Given the description of an element on the screen output the (x, y) to click on. 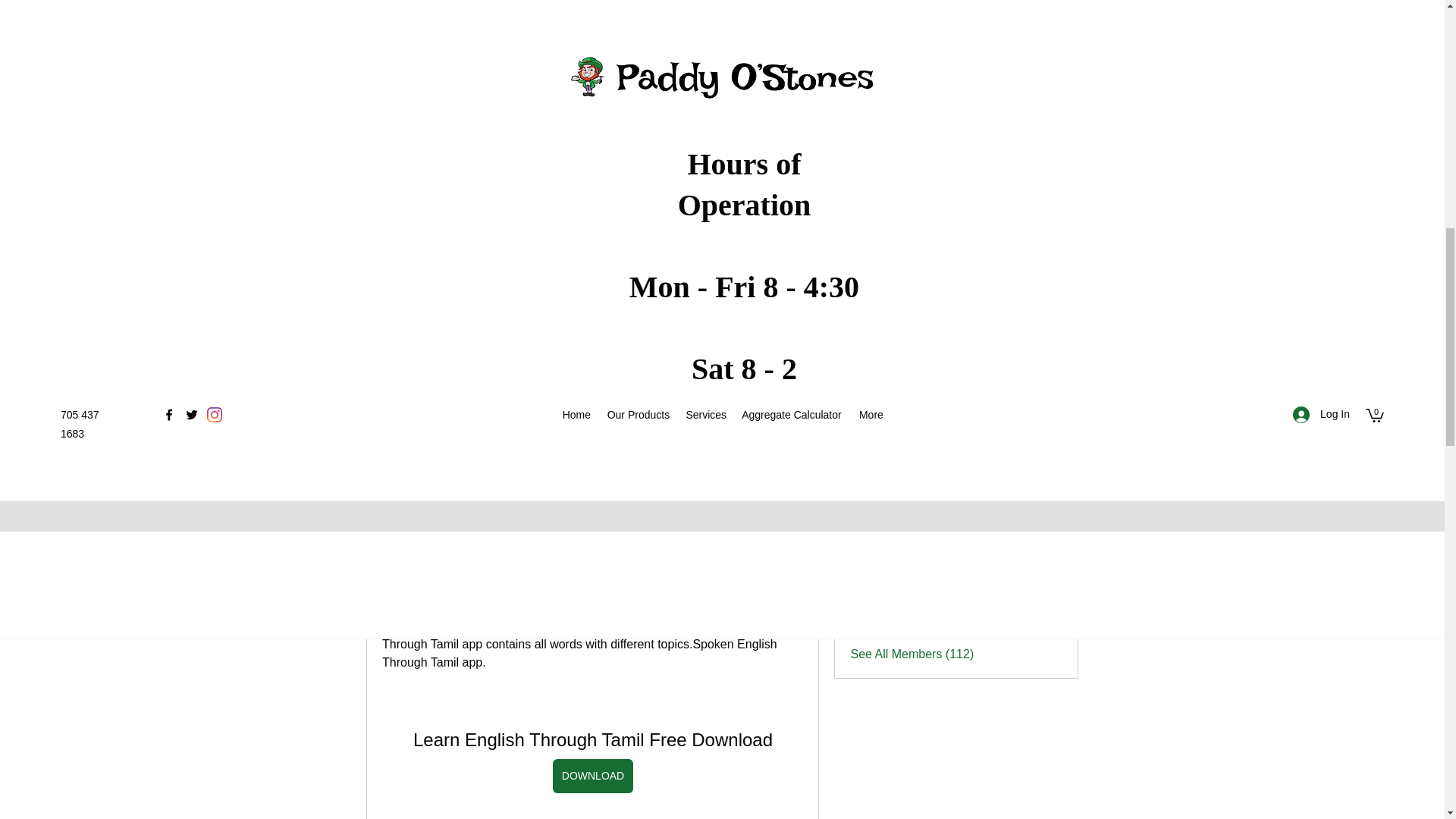
Hobz Mfpkd (863, 578)
Follow (1044, 579)
Back (389, 268)
PhuongLien NhaSuong (863, 541)
annettekirtont (922, 615)
Follow (1044, 466)
mdc637 (863, 466)
DOWNLOAD (591, 776)
Janet Gee (863, 502)
mdc637 (908, 464)
annettekirtont (863, 616)
June 6, 2023 (461, 335)
Read more (880, 365)
Follow (1044, 504)
Join (1013, 168)
